Given the description of an element on the screen output the (x, y) to click on. 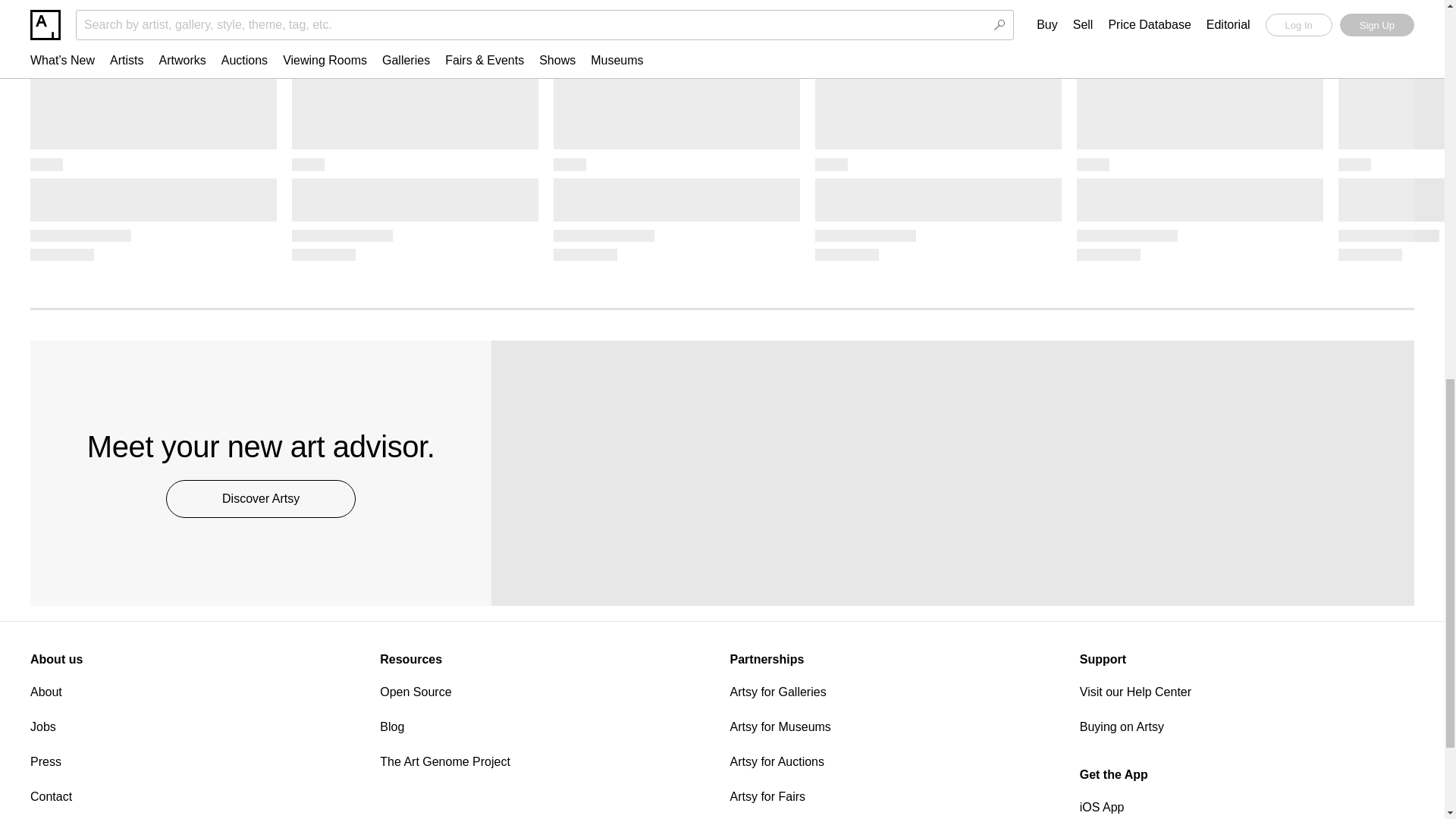
Press (197, 762)
About (197, 691)
Discover Artsy (260, 498)
Jobs (197, 727)
Contact (197, 796)
